Given the description of an element on the screen output the (x, y) to click on. 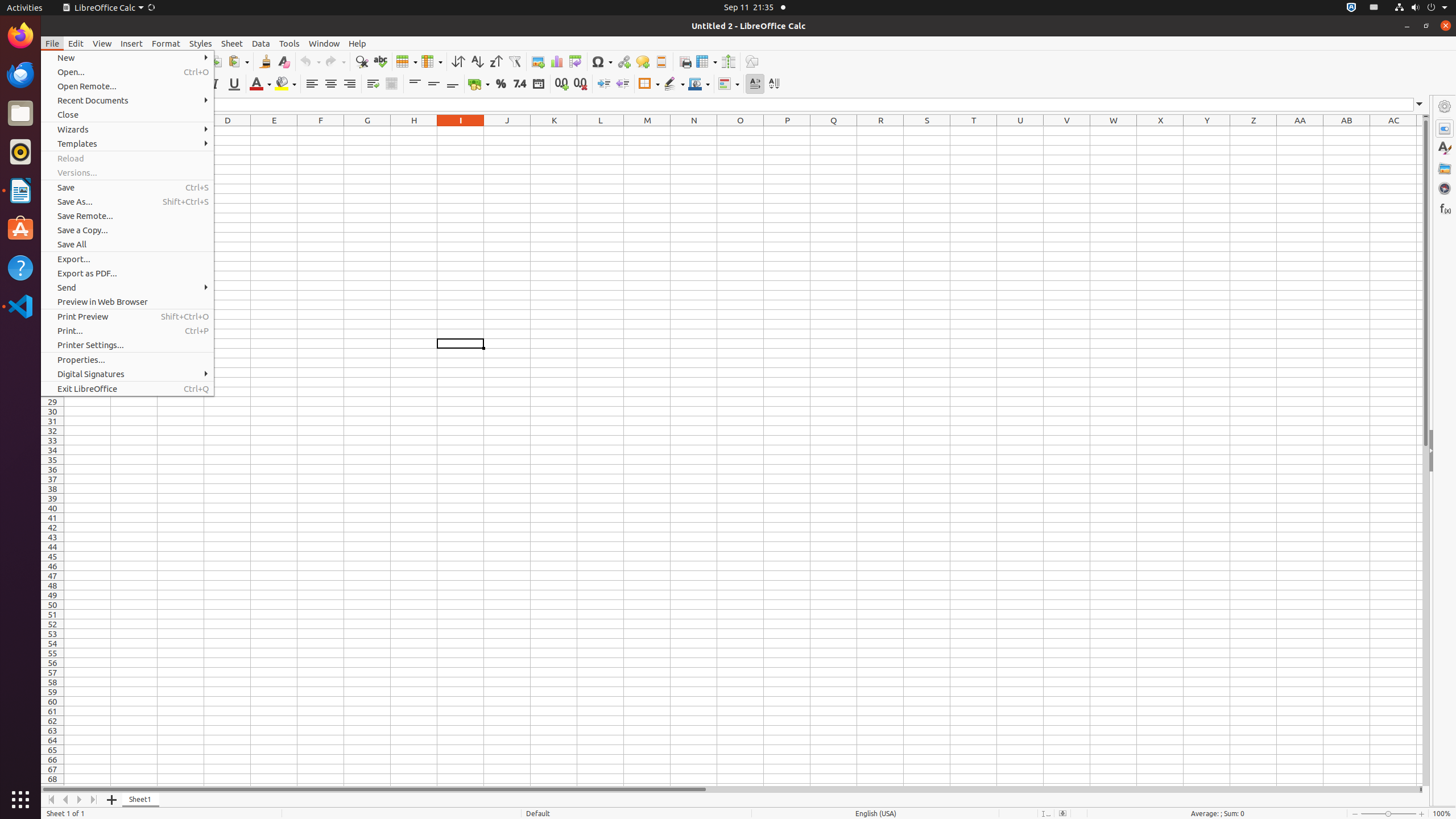
H1 Element type: table-cell (413, 130)
Sheet1 Element type: page-tab (140, 799)
AC1 Element type: table-cell (1393, 130)
Edit Element type: menu (75, 43)
